Given the description of an element on the screen output the (x, y) to click on. 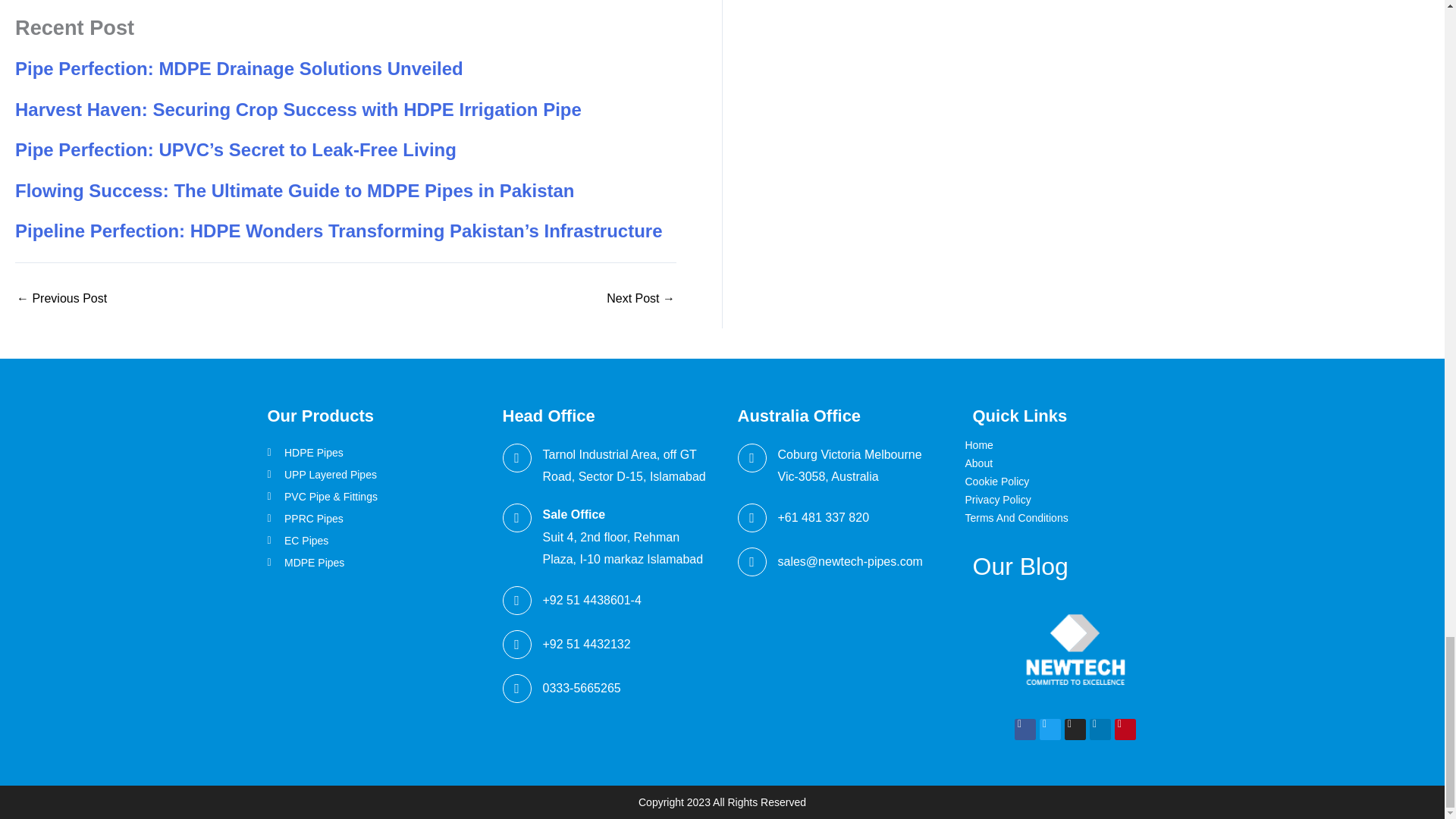
Pipe Perfection: MDPE Drainage Solutions Unveiled (61, 298)
Unlocking HDPE's Potential: Versatile Solutions (641, 298)
